Given the description of an element on the screen output the (x, y) to click on. 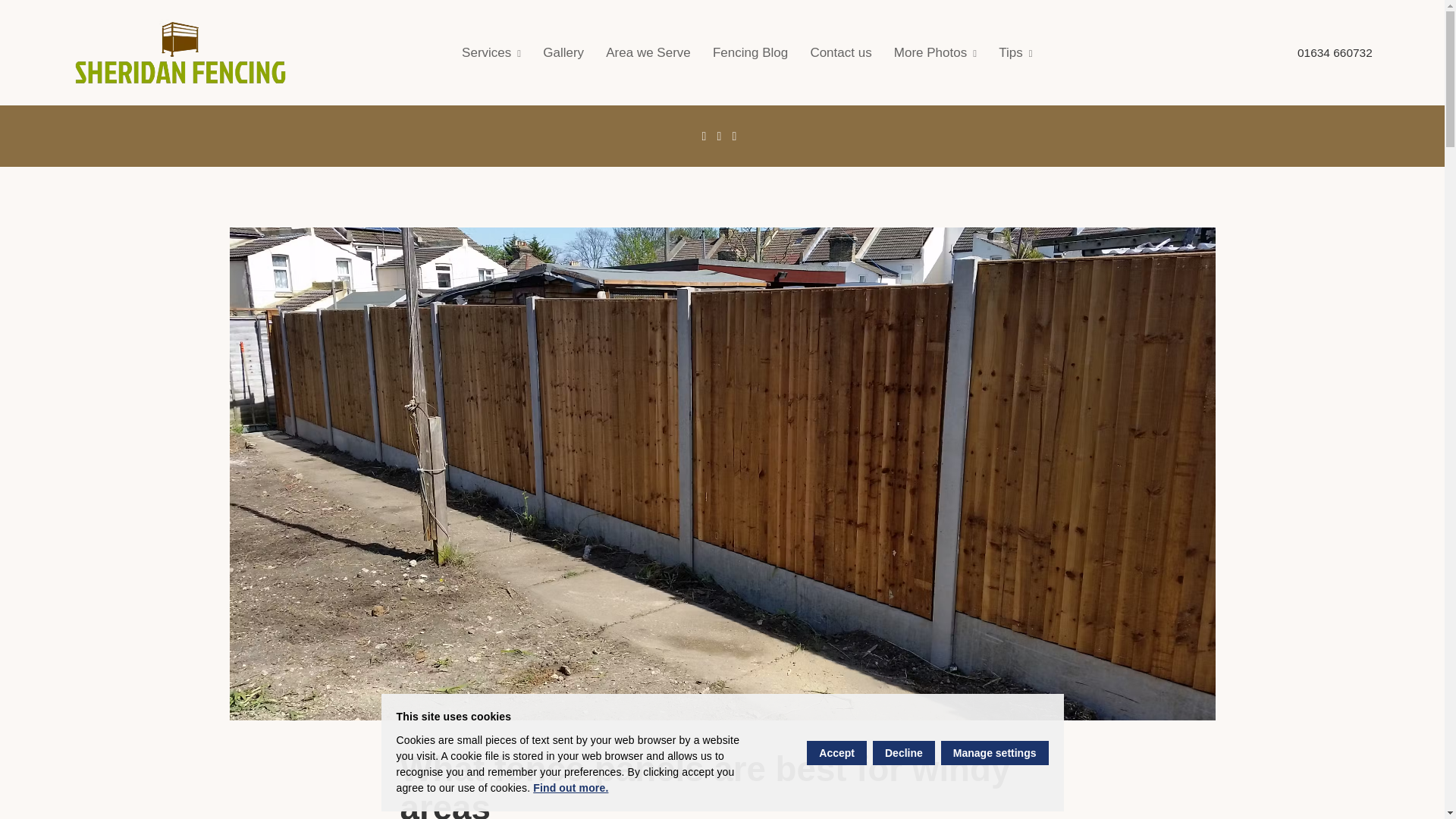
01634 660732 (1335, 51)
Area we Serve (648, 52)
Contact us (840, 52)
Gallery (563, 52)
Fencing Blog (749, 52)
